Given the description of an element on the screen output the (x, y) to click on. 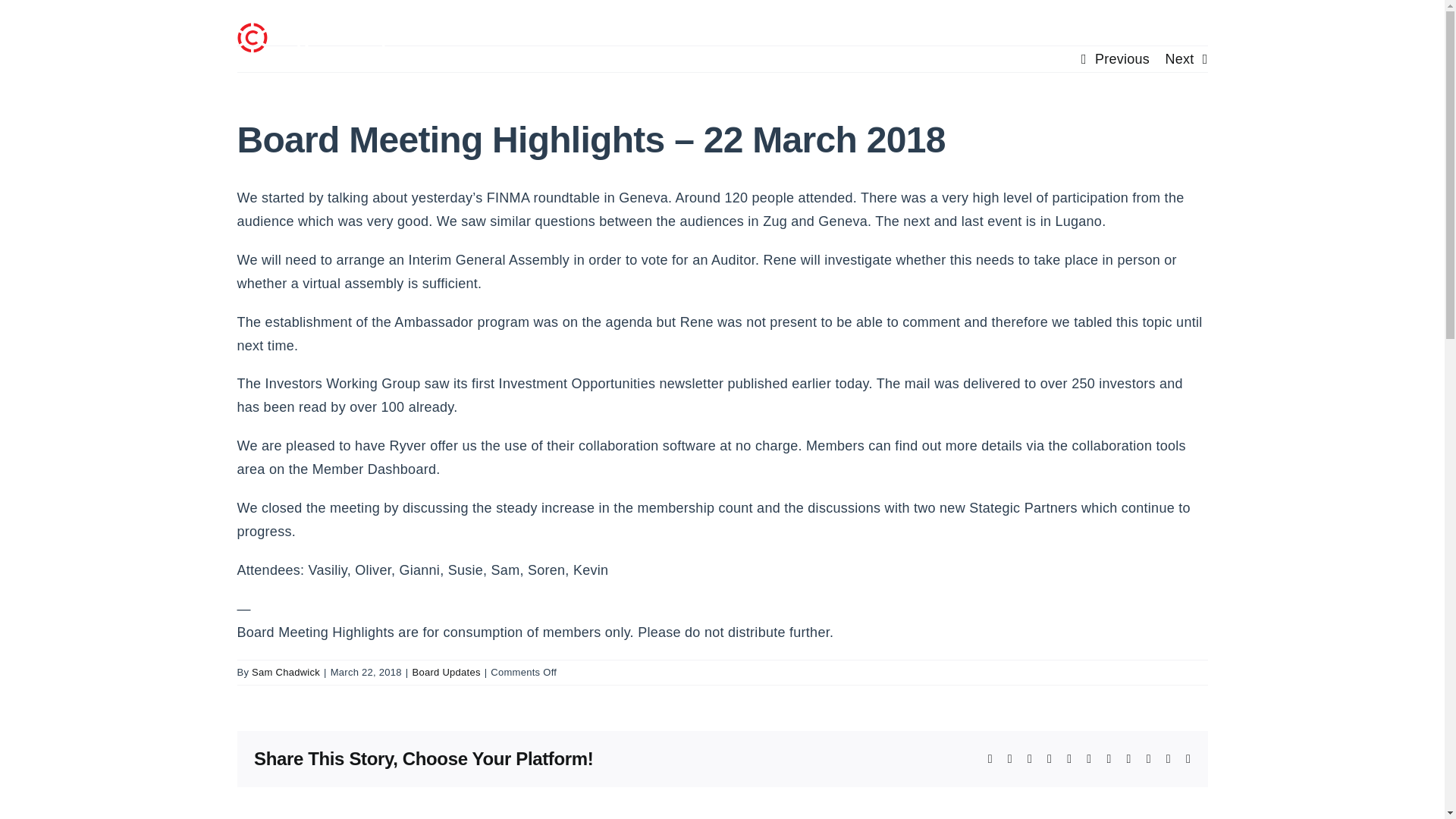
Posts by Sam Chadwick (285, 672)
Our Activities (987, 33)
Our Network (883, 33)
